Given the description of an element on the screen output the (x, y) to click on. 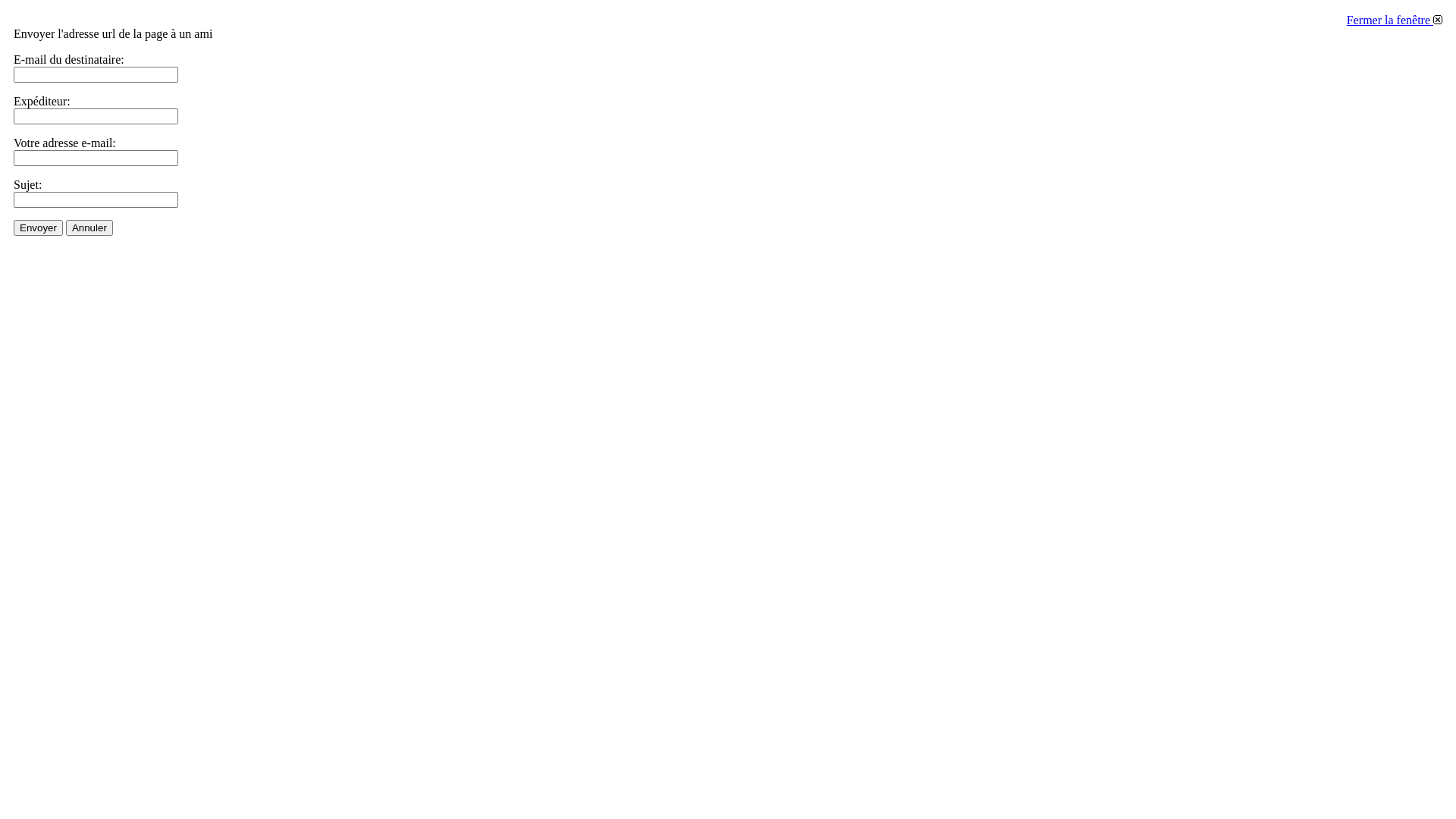
Envoyer Element type: text (37, 227)
Annuler Element type: text (88, 227)
